Given the description of an element on the screen output the (x, y) to click on. 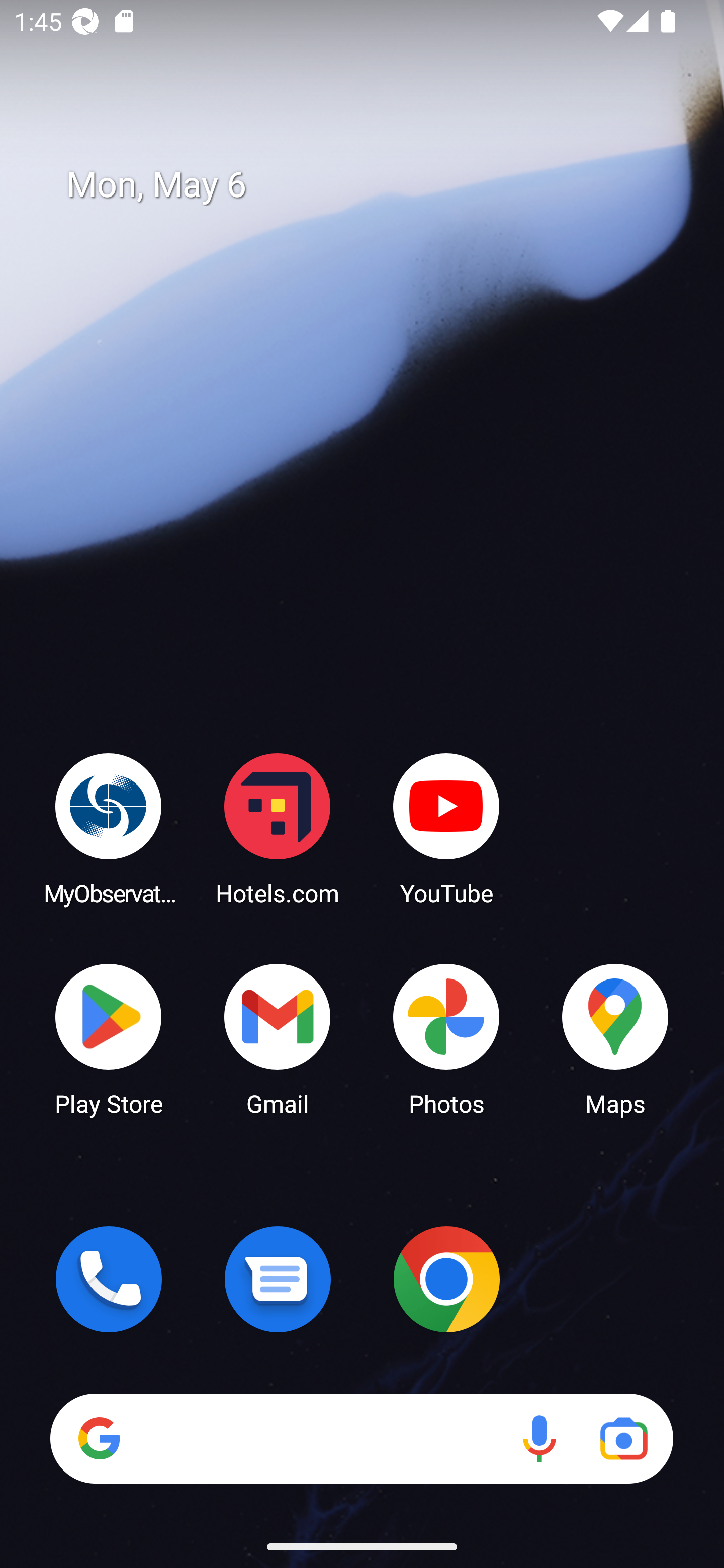
Mon, May 6 (375, 184)
MyObservatory (108, 828)
Hotels.com (277, 828)
YouTube (445, 828)
Play Store (108, 1038)
Gmail (277, 1038)
Photos (445, 1038)
Maps (615, 1038)
Phone (108, 1279)
Messages (277, 1279)
Chrome (446, 1279)
Search Voice search Google Lens (361, 1438)
Voice search (539, 1438)
Google Lens (623, 1438)
